Given the description of an element on the screen output the (x, y) to click on. 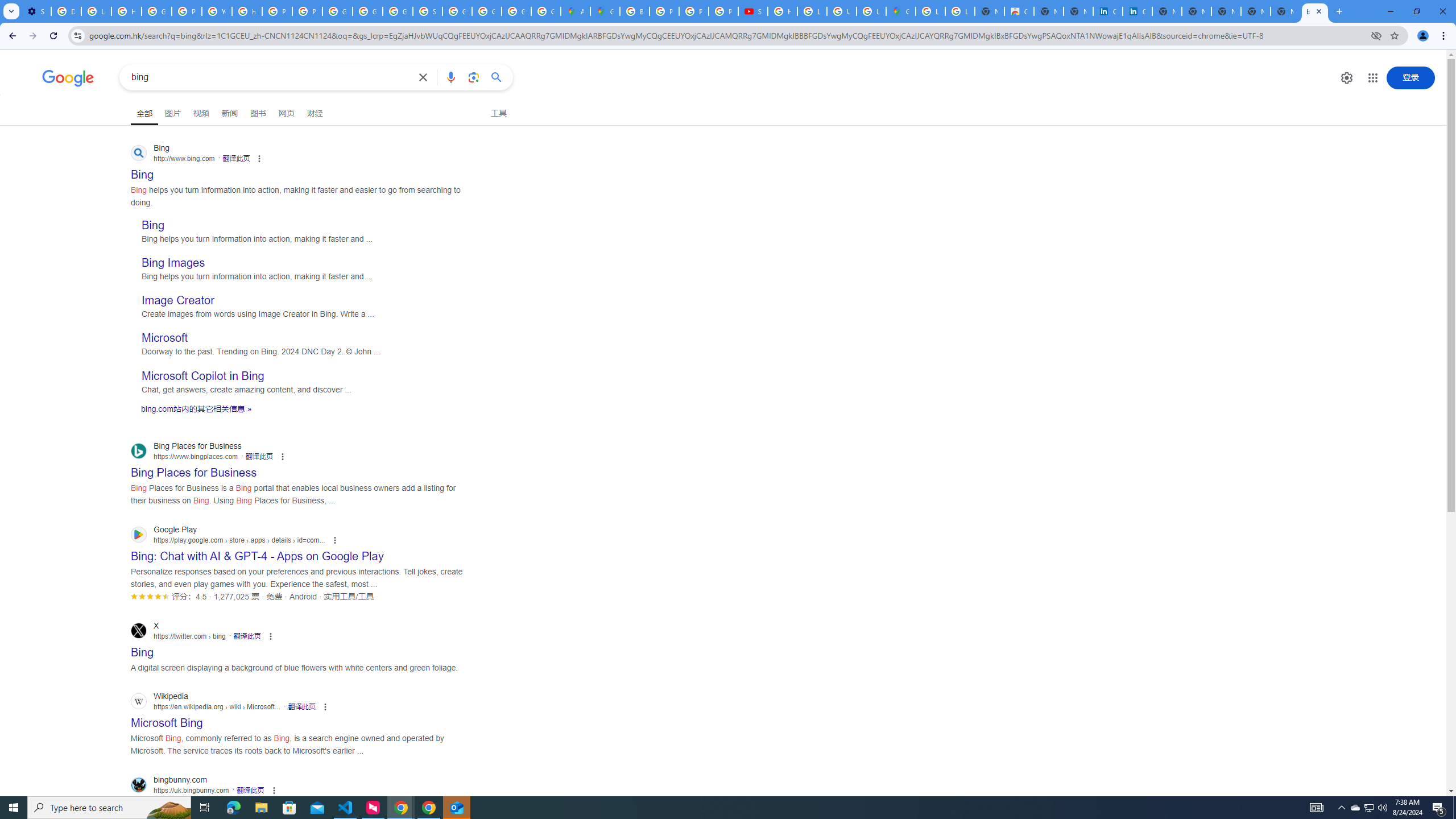
Privacy Help Center - Policies Help (277, 11)
Privacy Help Center - Policies Help (185, 11)
Learn how to find your photos - Google Photos Help (95, 11)
Chrome Web Store (1018, 11)
Subscriptions - YouTube (753, 11)
Microsoft Copilot in Bing (202, 375)
